Given the description of an element on the screen output the (x, y) to click on. 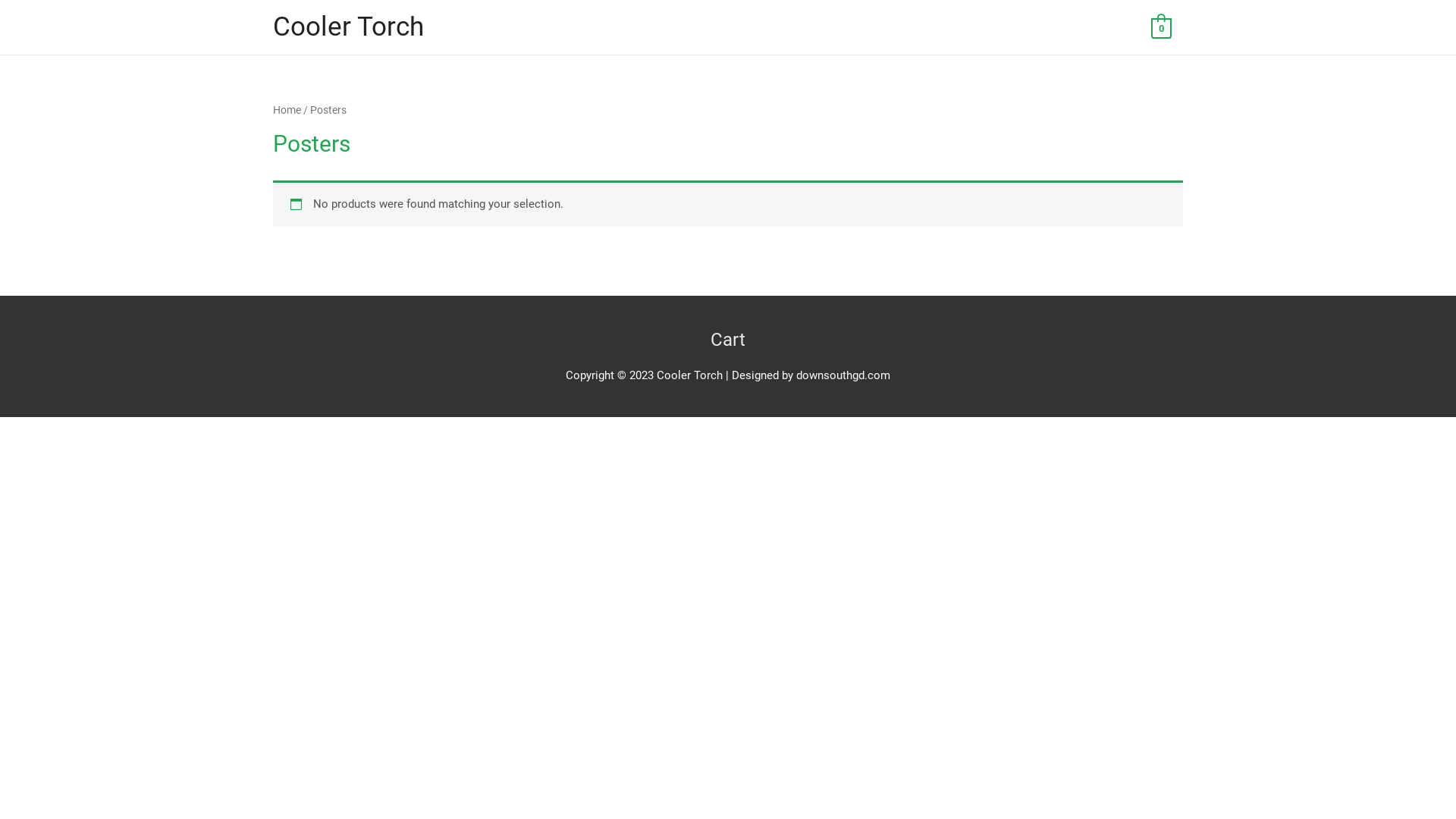
Cooler Torch Element type: text (348, 26)
Home Element type: text (287, 109)
0 Element type: text (1161, 27)
